Given the description of an element on the screen output the (x, y) to click on. 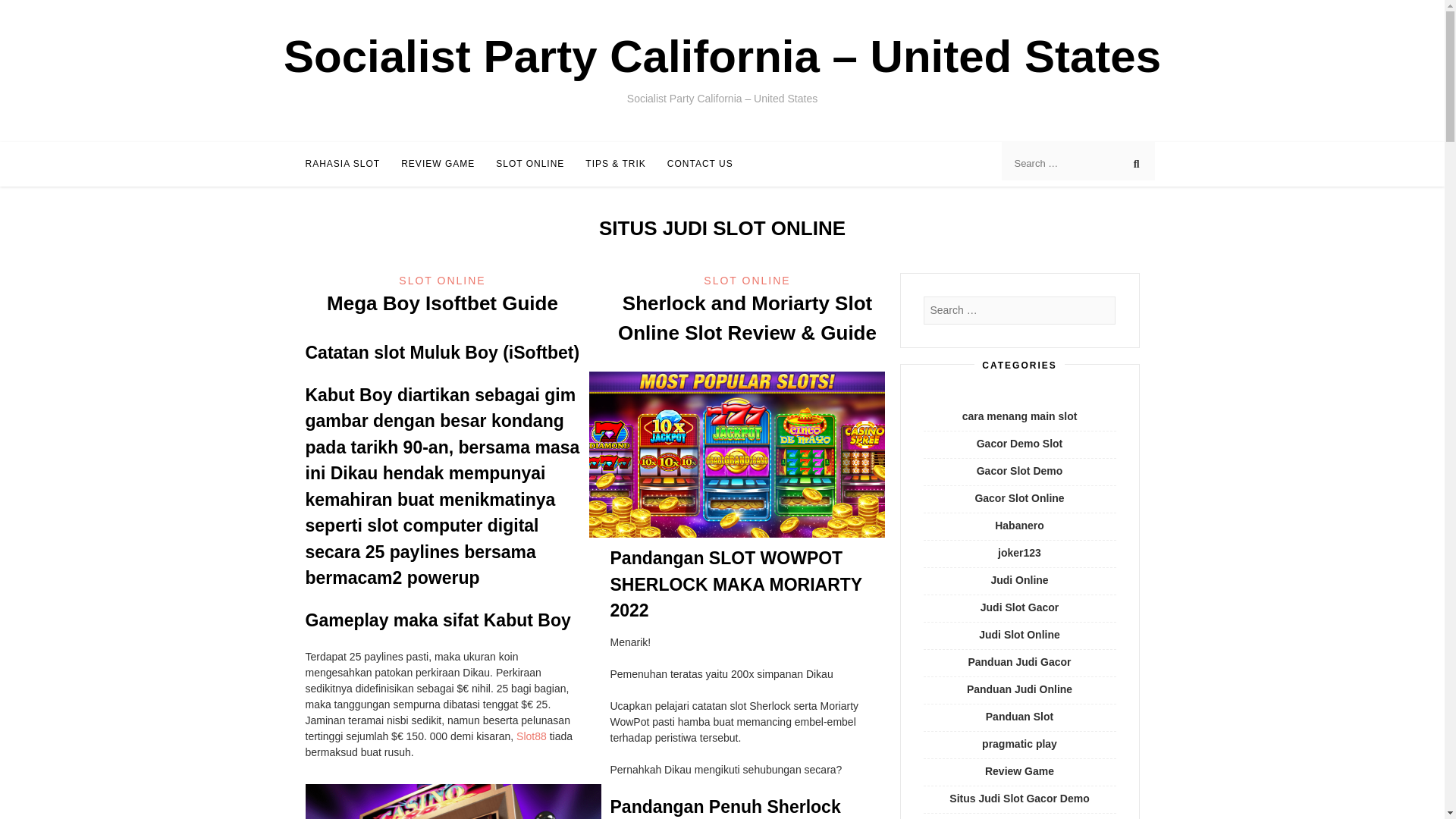
cara menang main slot (1019, 416)
joker123 (1019, 552)
Judi Slot Online (1018, 634)
SLOT ONLINE (530, 163)
Review Game (1019, 770)
Slot88 (531, 736)
REVIEW GAME (437, 163)
Gacor Demo Slot (1019, 443)
Panduan Judi Gacor (1019, 662)
Panduan Judi Online (1018, 689)
Gacor Slot Demo (1019, 470)
RAHASIA SLOT (342, 163)
Mega Boy Isoftbet Guide (441, 302)
pragmatic play (1019, 743)
Situs Judi Slot Gacor Demo (1019, 798)
